Given the description of an element on the screen output the (x, y) to click on. 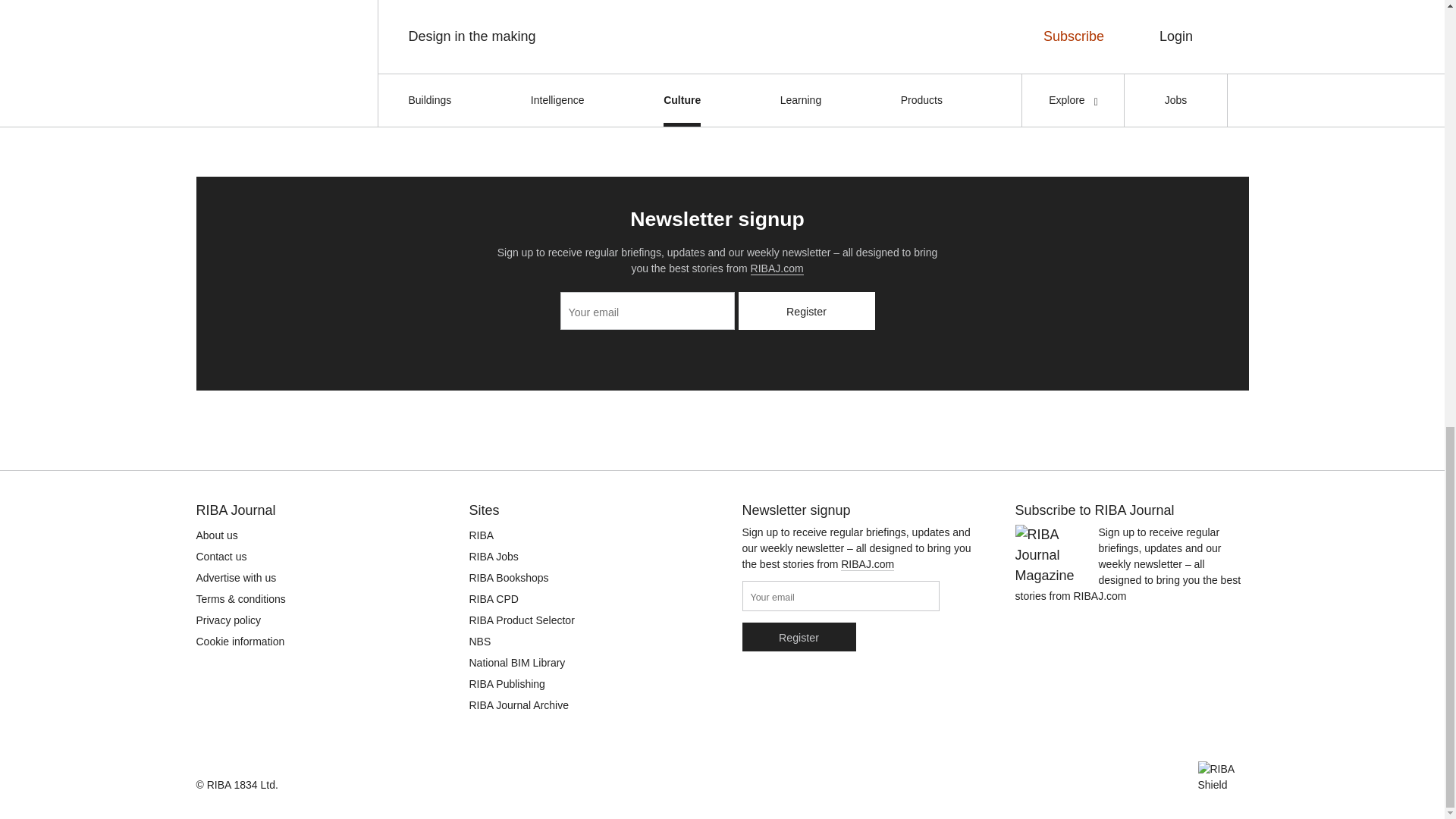
Register (806, 310)
Register (798, 636)
